Given the description of an element on the screen output the (x, y) to click on. 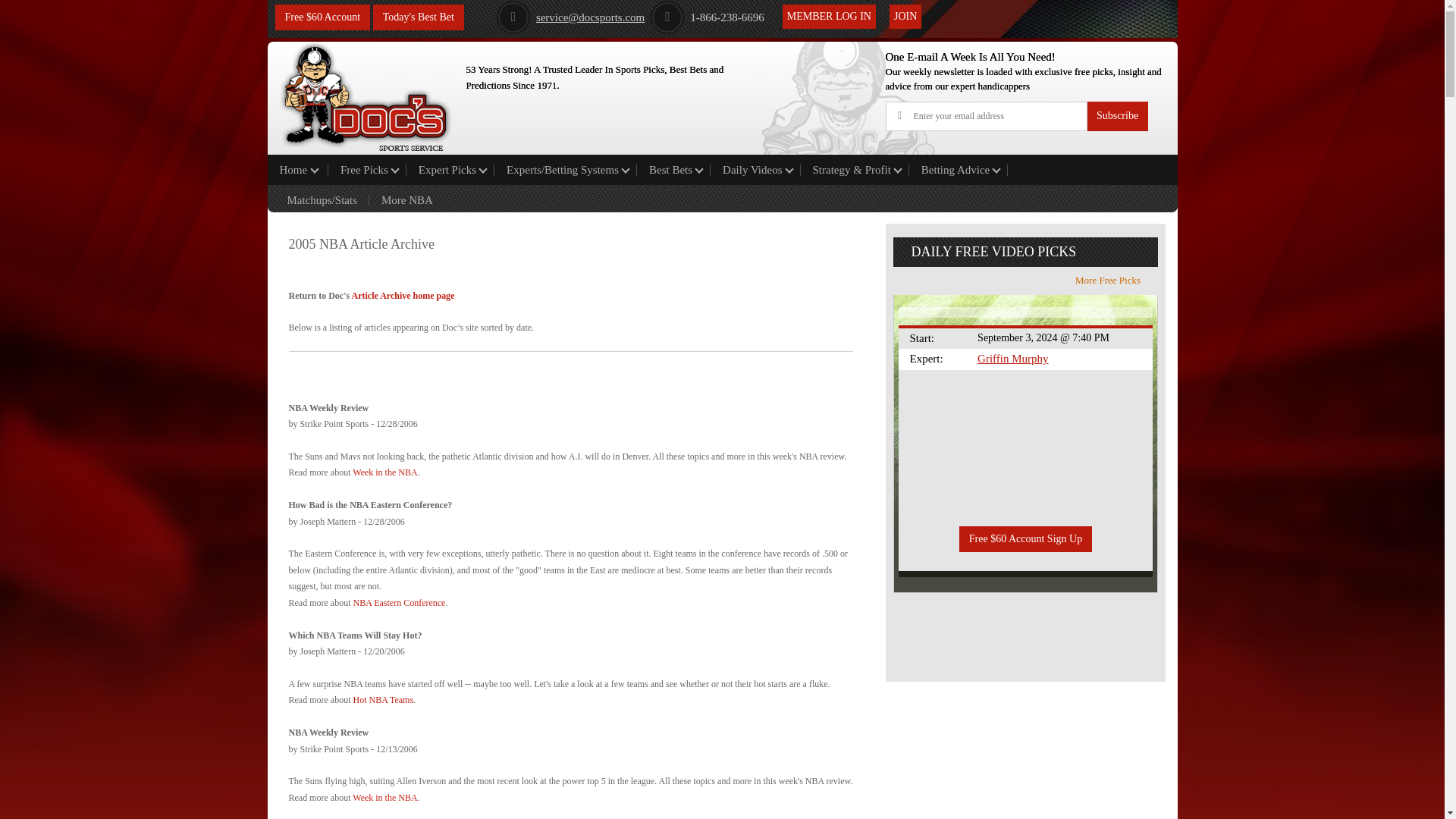
MEMBER LOG IN (829, 16)
Free Picks (367, 169)
Subscribe (1117, 116)
NBA Eastern Conference (398, 602)
Week in the NBA (384, 471)
Hot NBA Teams (382, 699)
Docs (365, 94)
Expert Picks (450, 169)
Home (296, 169)
Member Login (829, 16)
